Given the description of an element on the screen output the (x, y) to click on. 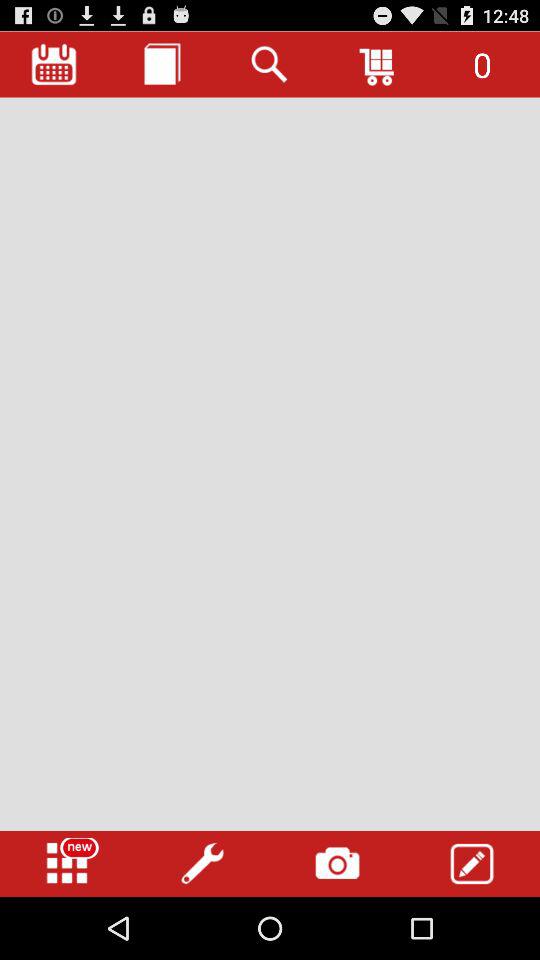
go to settings (202, 863)
